Given the description of an element on the screen output the (x, y) to click on. 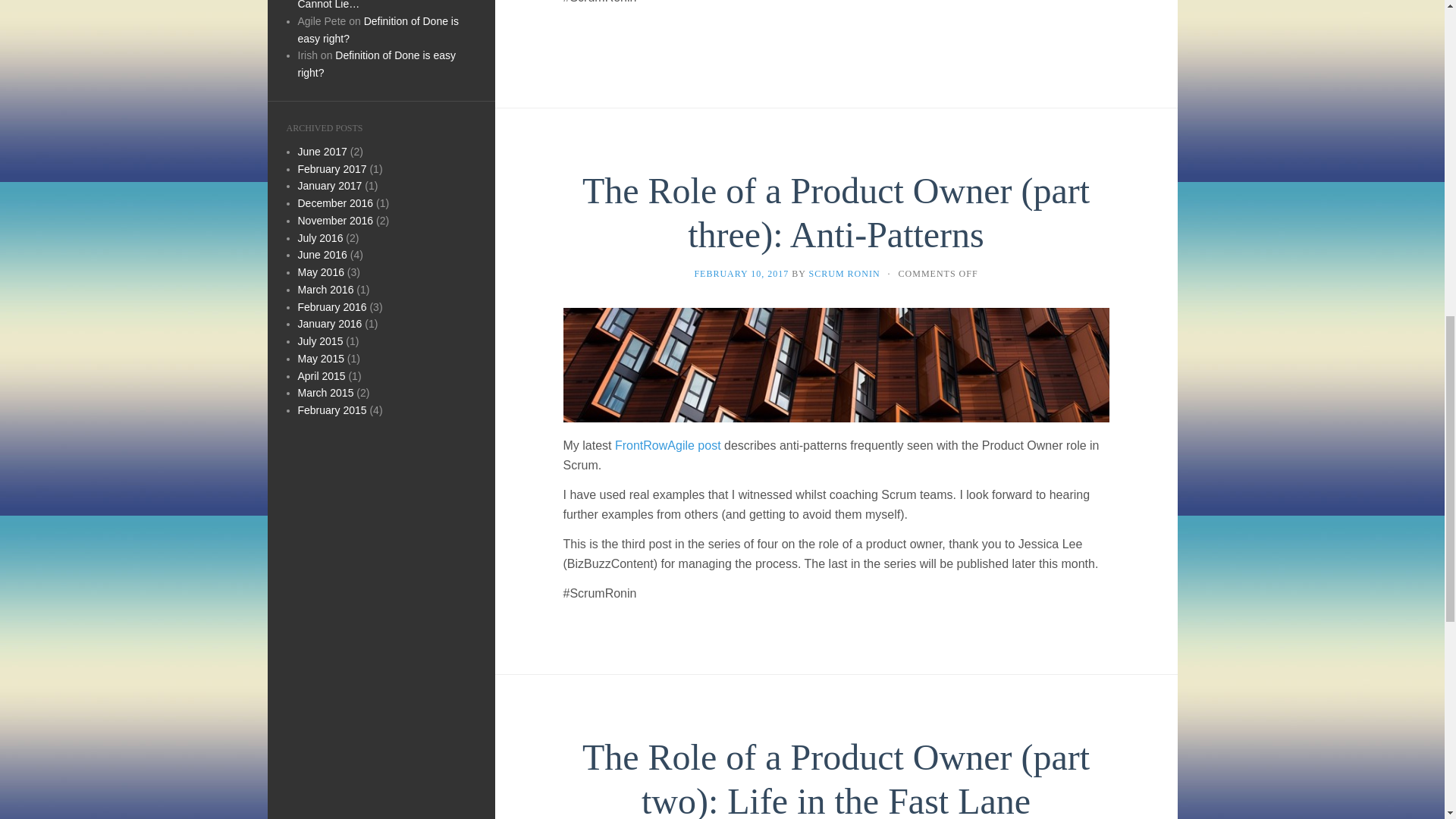
July 2016 (319, 237)
June 2016 (321, 254)
January 2017 (329, 185)
January 2016 (329, 323)
July 2015 (319, 340)
February 2017 (331, 168)
November 2016 (334, 220)
April 2015 (321, 376)
May 2015 (320, 358)
June 2017 (321, 151)
May 2016 (320, 272)
Definition of Done is easy right? (376, 63)
Definition of Done is easy right? (377, 30)
December 2016 (334, 203)
February 2015 (331, 410)
